Given the description of an element on the screen output the (x, y) to click on. 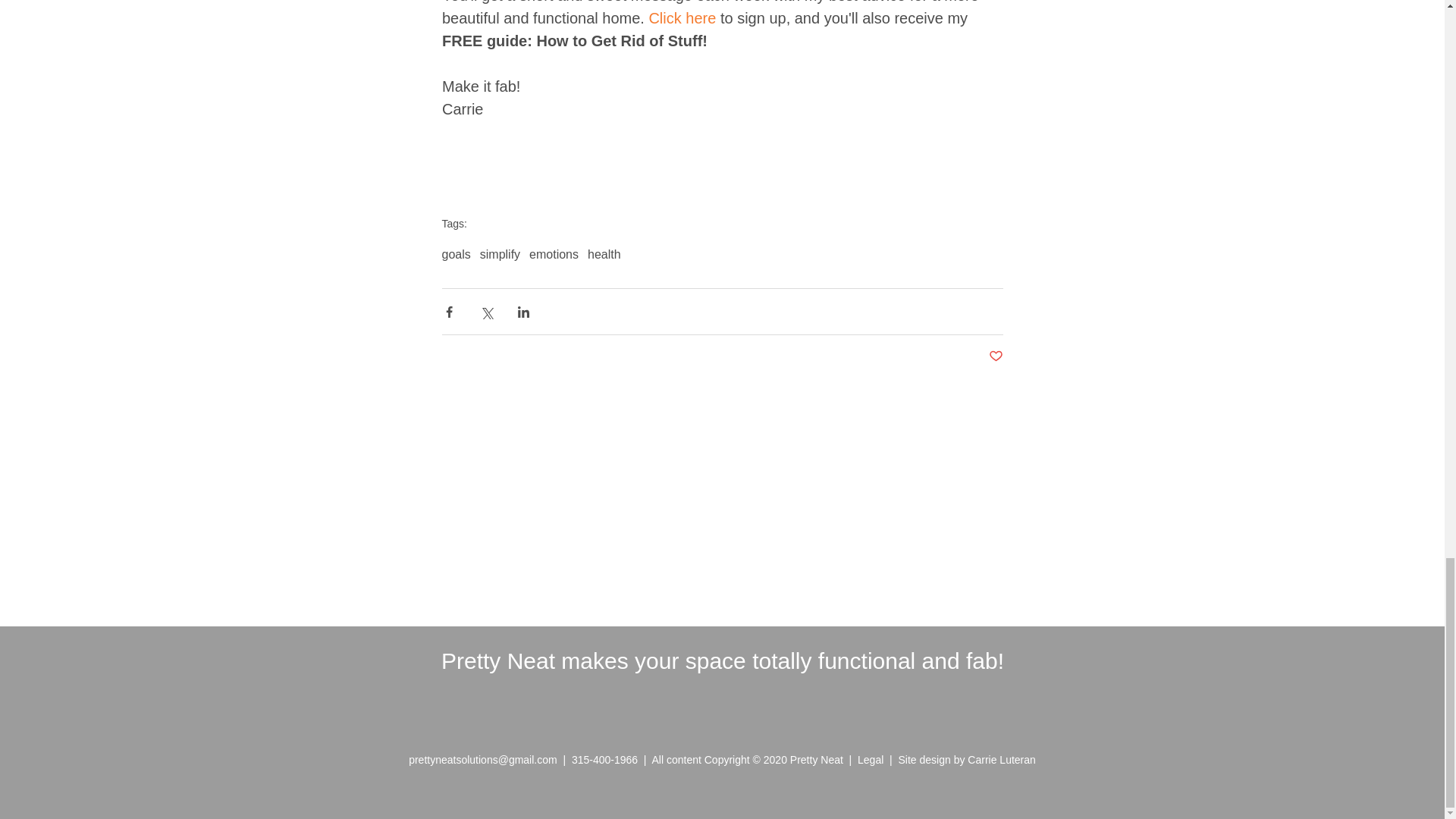
simplify (499, 254)
315-400-1966 (604, 759)
emotions (553, 254)
goals (455, 254)
Legal   (873, 759)
Click here (681, 17)
Post not marked as liked (995, 356)
health (604, 254)
